Given the description of an element on the screen output the (x, y) to click on. 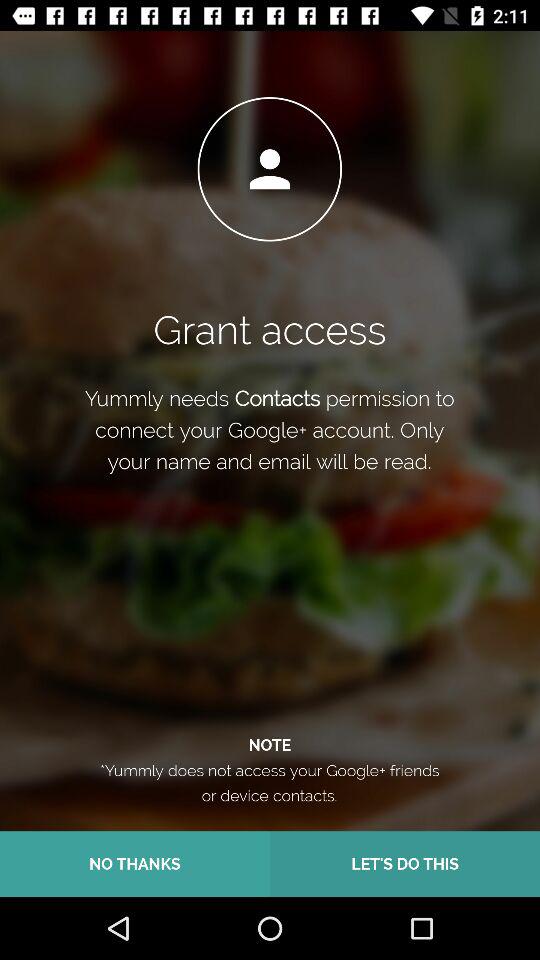
choose the icon at the bottom left corner (135, 863)
